Given the description of an element on the screen output the (x, y) to click on. 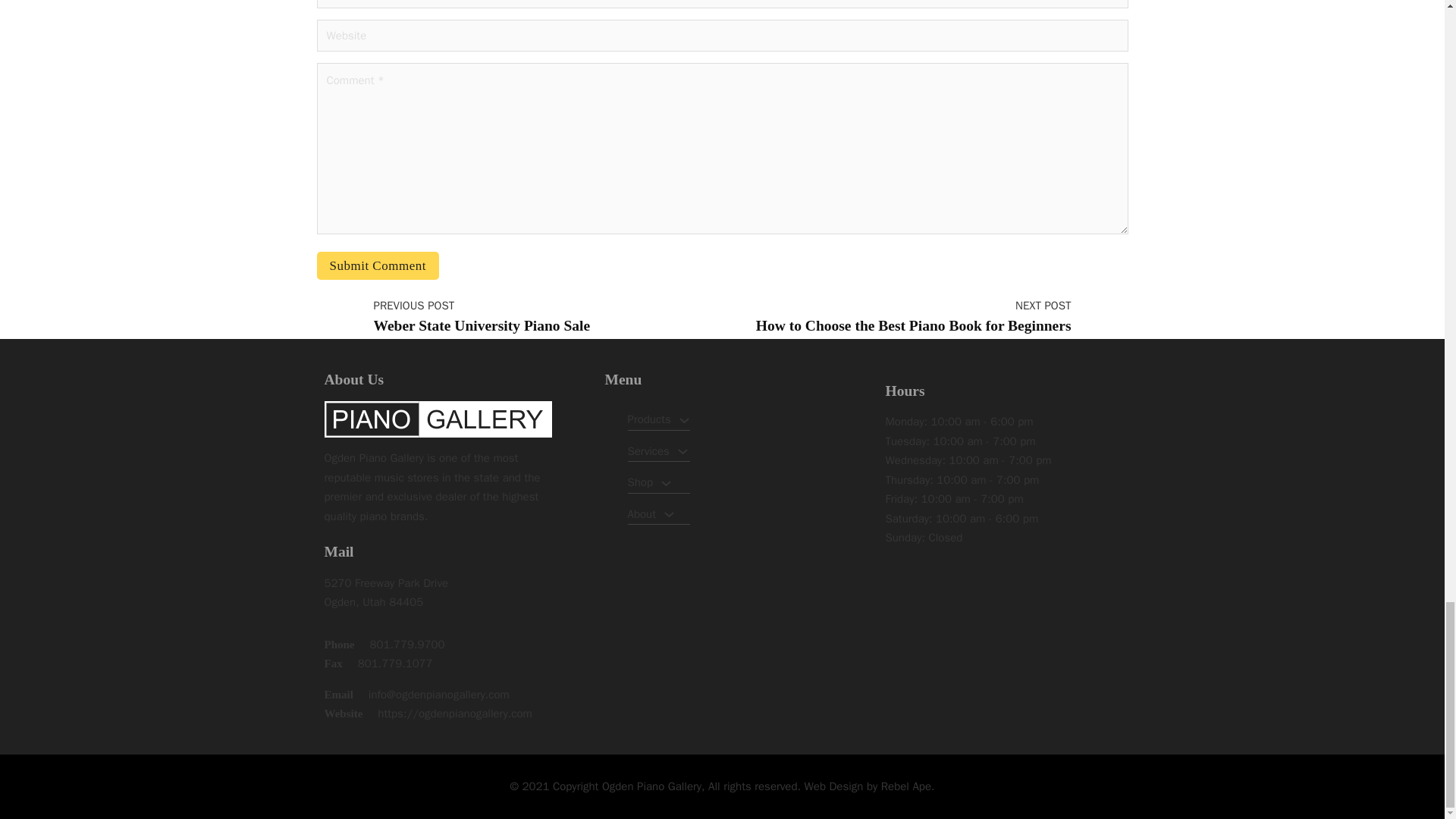
Submit Comment (378, 265)
